Given the description of an element on the screen output the (x, y) to click on. 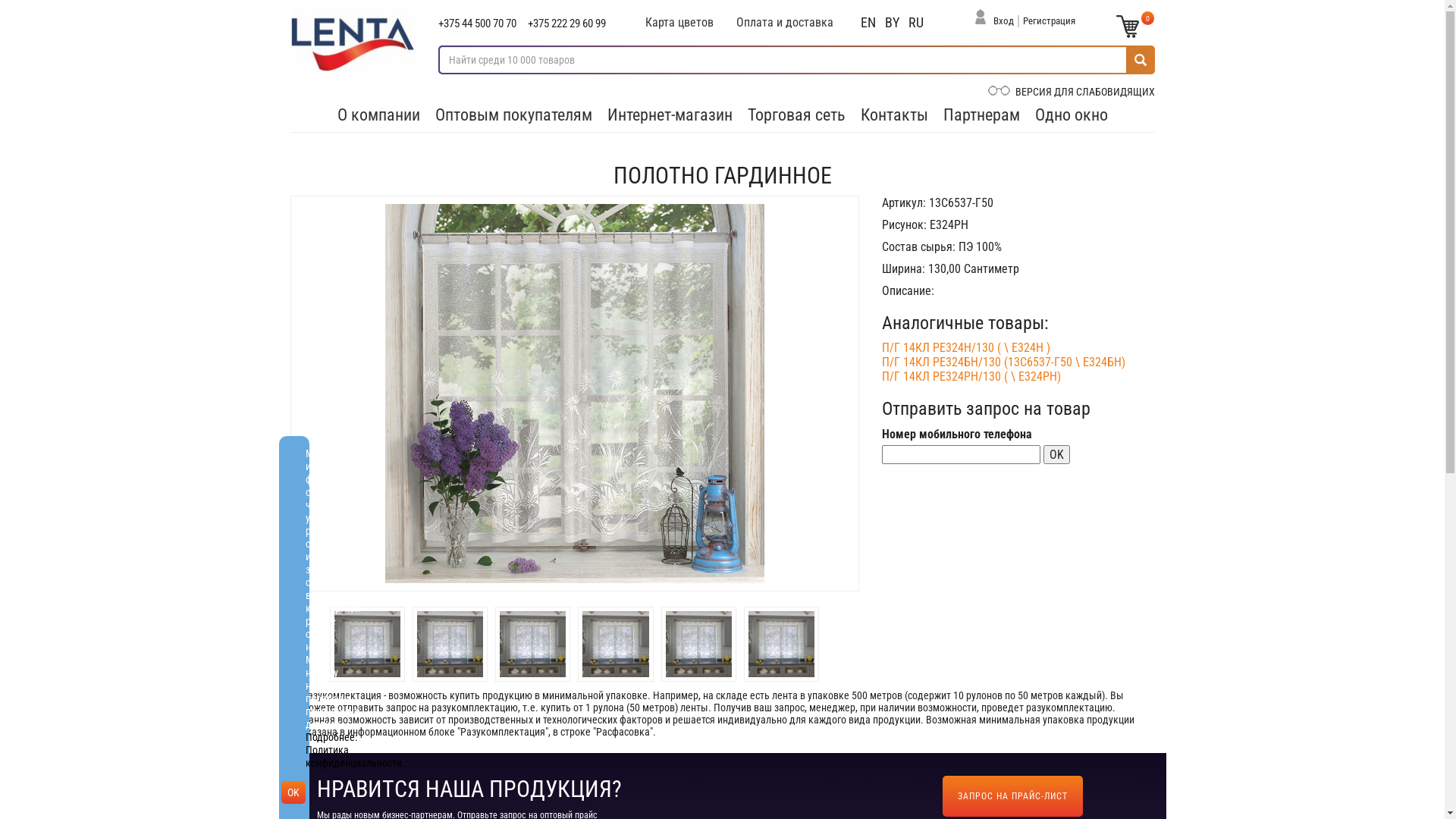
0 Element type: text (1127, 26)
BY Element type: text (891, 22)
OK Element type: text (1056, 454)
OK Element type: text (292, 792)
EN Element type: text (868, 22)
RU Element type: text (915, 22)
